Given the description of an element on the screen output the (x, y) to click on. 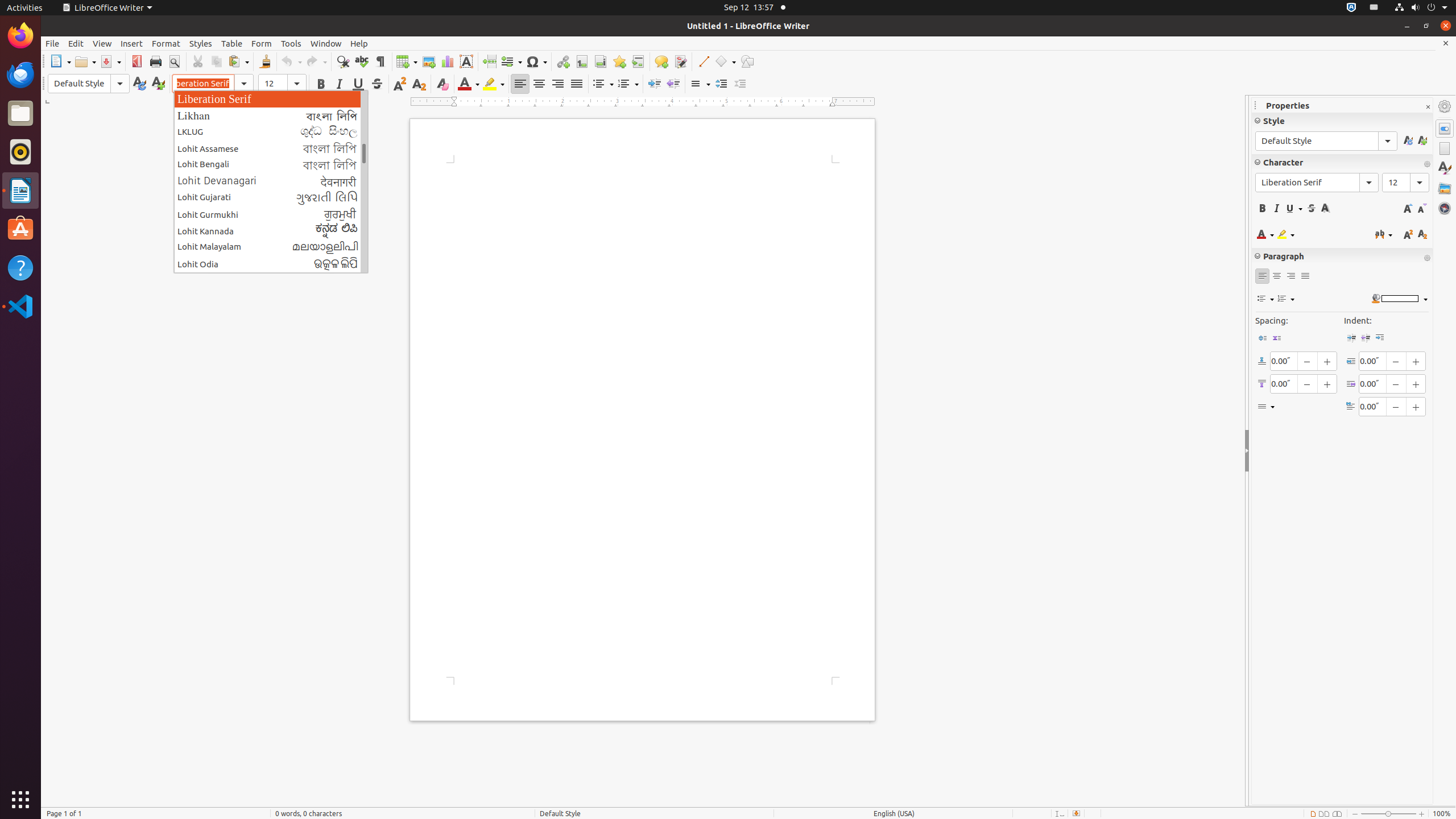
Shadow Element type: toggle-button (1325, 208)
Copy Element type: push-button (216, 61)
Bullets Element type: push-button (602, 83)
LibreOffice Writer Element type: push-button (20, 190)
Chart Element type: push-button (446, 61)
